Given the description of an element on the screen output the (x, y) to click on. 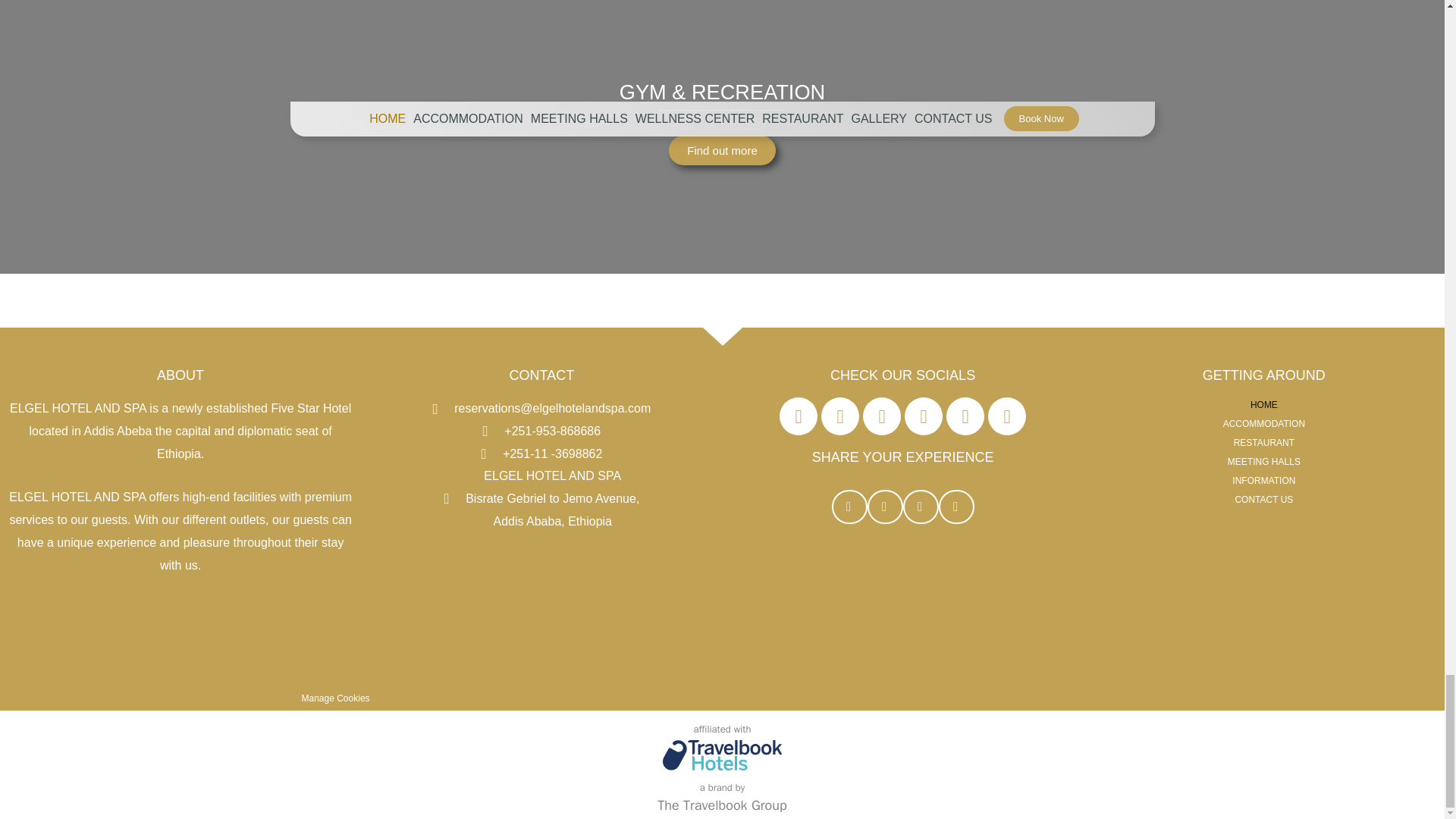
Facebook (797, 415)
Find out more (722, 150)
ELGEL HOTEL AND SPA, addis (541, 620)
